Given the description of an element on the screen output the (x, y) to click on. 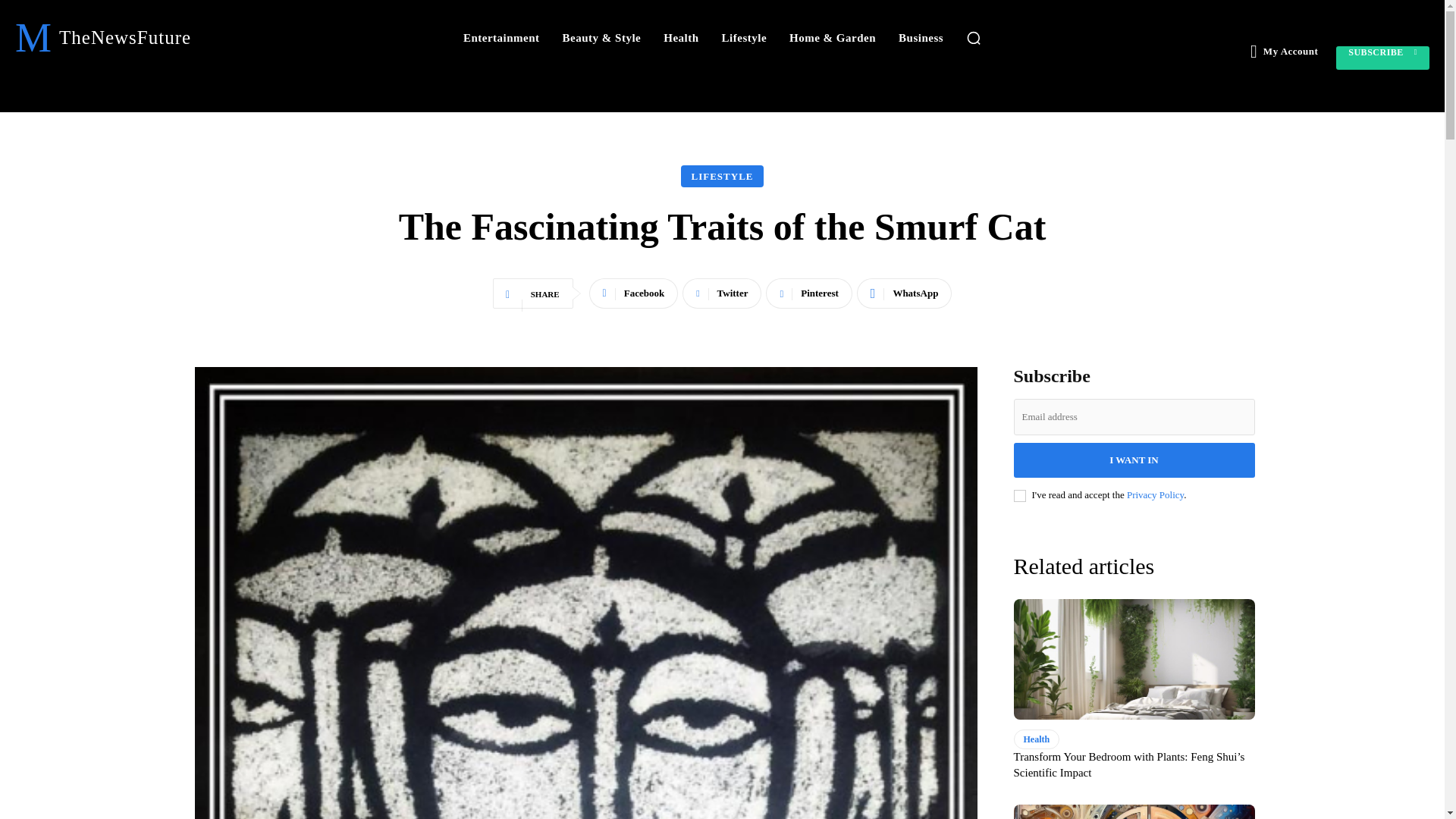
Facebook (633, 293)
WhatsApp (904, 293)
Pinterest (808, 293)
Twitter (721, 293)
